Given the description of an element on the screen output the (x, y) to click on. 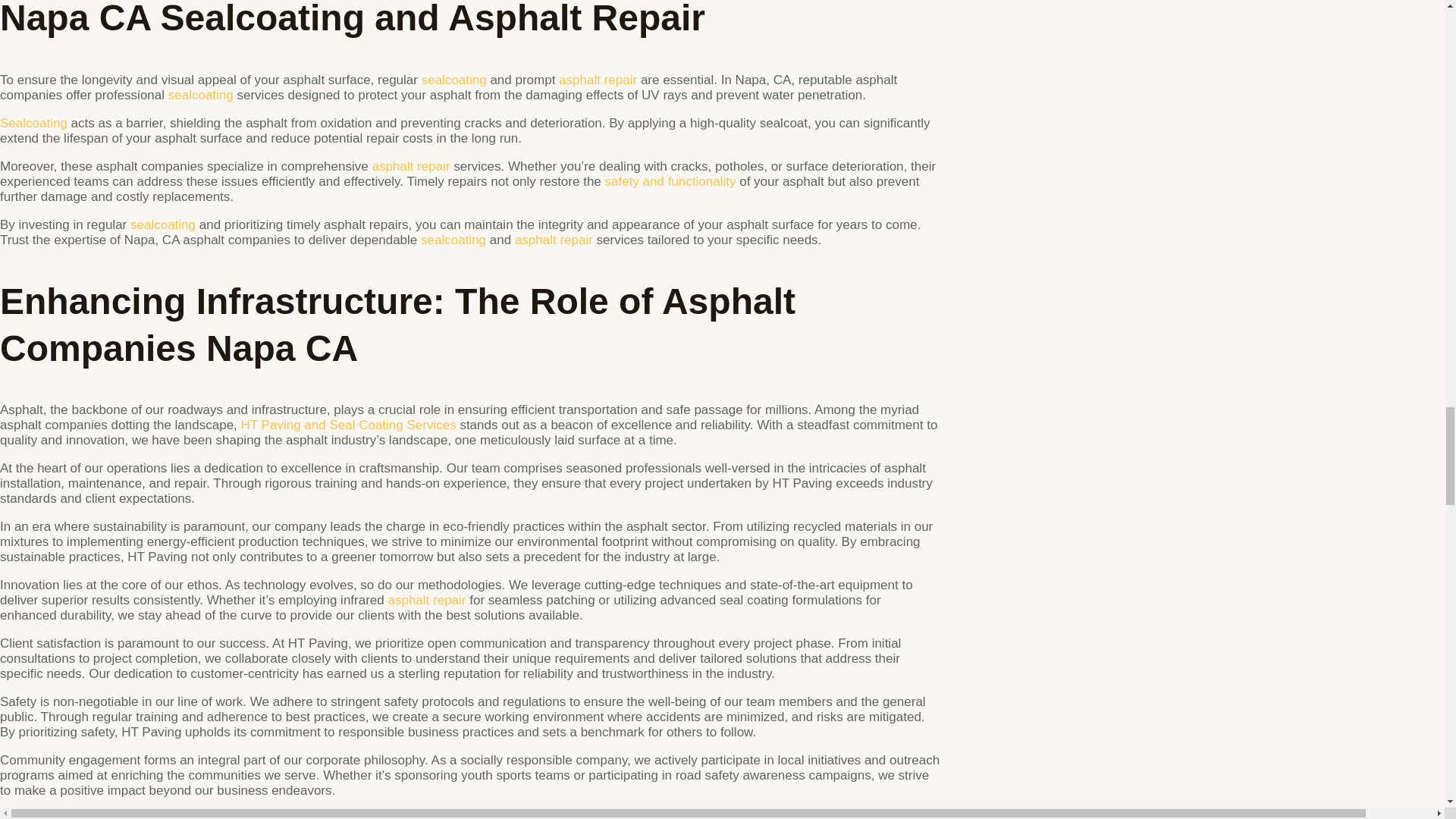
Learn More! (670, 181)
Learn More! (200, 94)
Learn More! (454, 79)
Learn More! (453, 239)
Learn More! (598, 79)
Learn More! (33, 123)
Learn More! (163, 224)
Learn More! (410, 165)
